Given the description of an element on the screen output the (x, y) to click on. 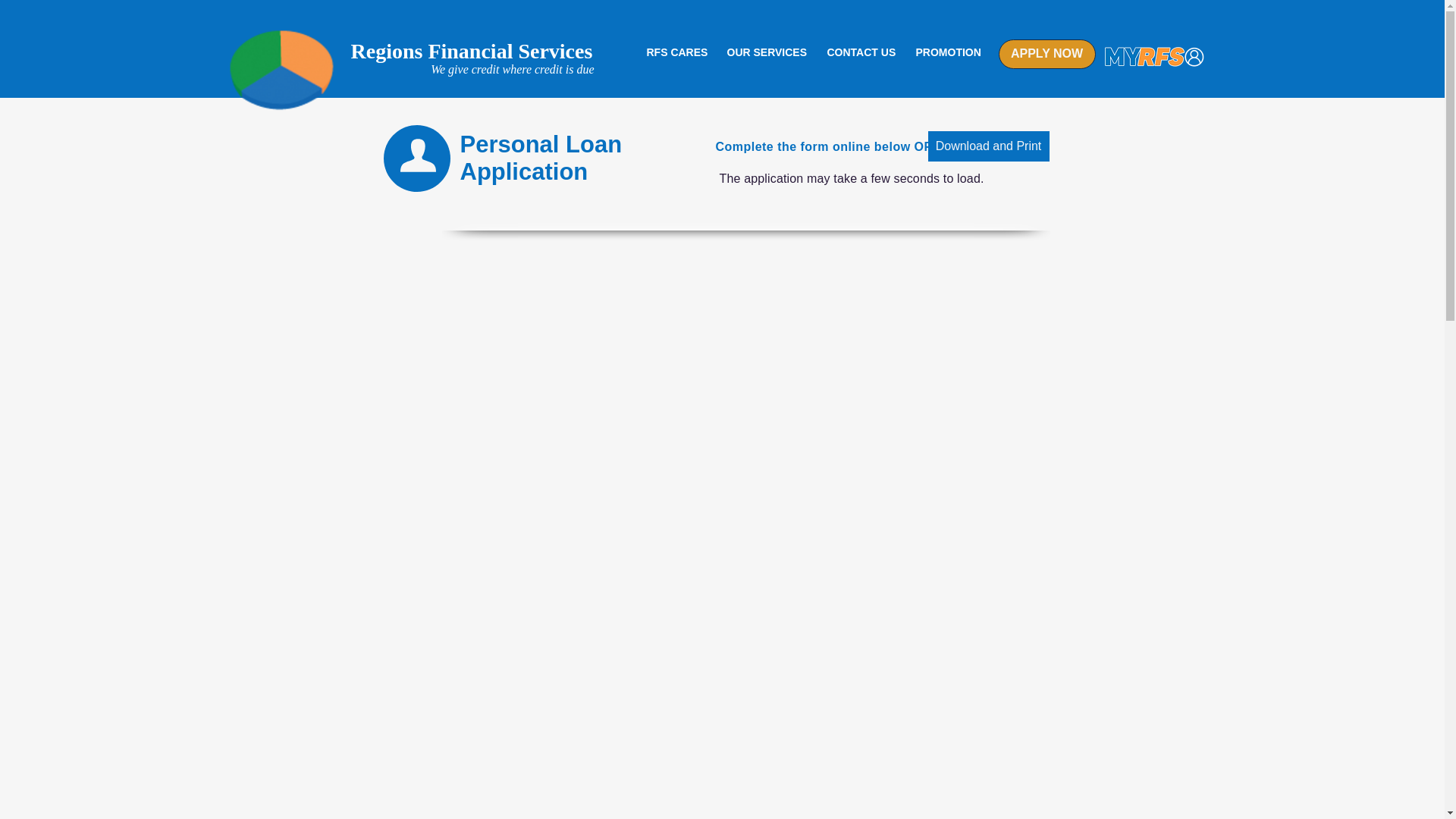
CONTACT US (859, 52)
OUR SERVICES (765, 52)
Download and Print (988, 146)
RFS CARES (675, 52)
Regions Financial Services (471, 51)
APPLY NOW (1045, 53)
PROMOTION (947, 52)
